Given the description of an element on the screen output the (x, y) to click on. 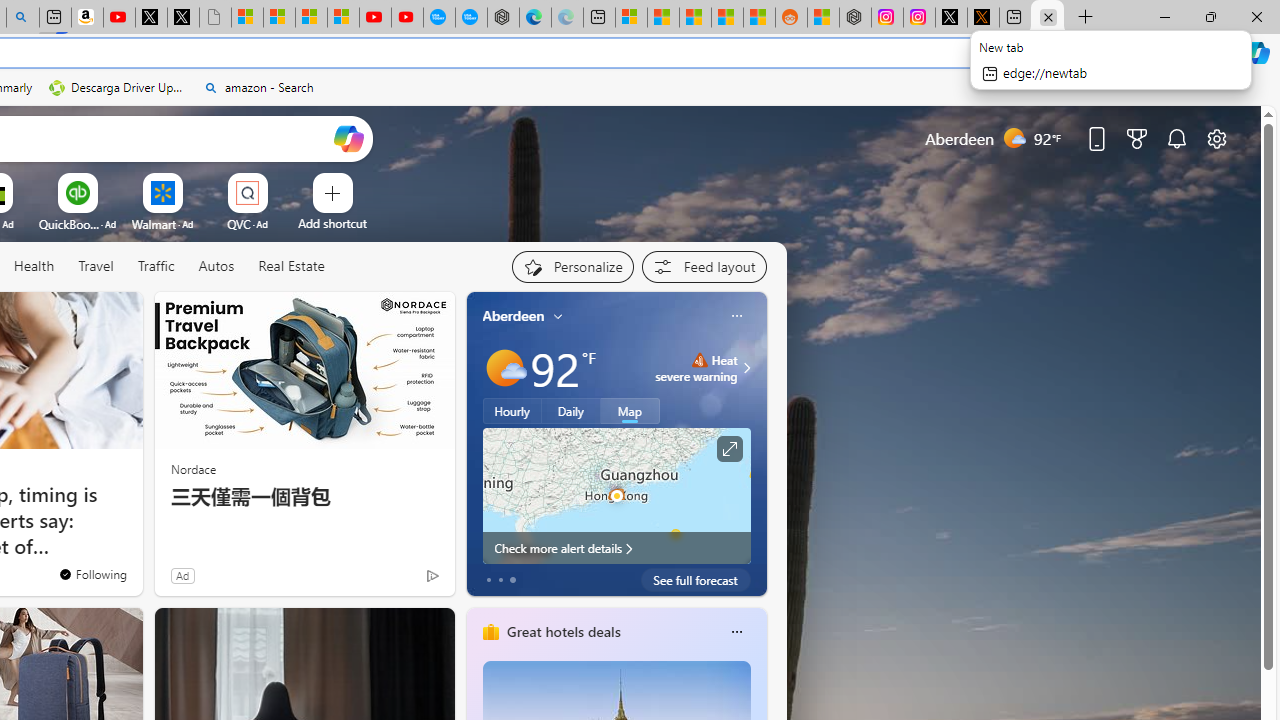
Real Estate (291, 265)
Larger map  (616, 495)
Mostly sunny (504, 368)
See full forecast (695, 579)
Travel (95, 265)
Personalize your feed" (571, 266)
Autos (215, 265)
Nordace - Nordace has arrived Hong Kong (502, 17)
Add a site (332, 223)
Microsoft rewards (1137, 138)
help.x.com | 524: A timeout occurred (983, 17)
Map (630, 411)
